Given the description of an element on the screen output the (x, y) to click on. 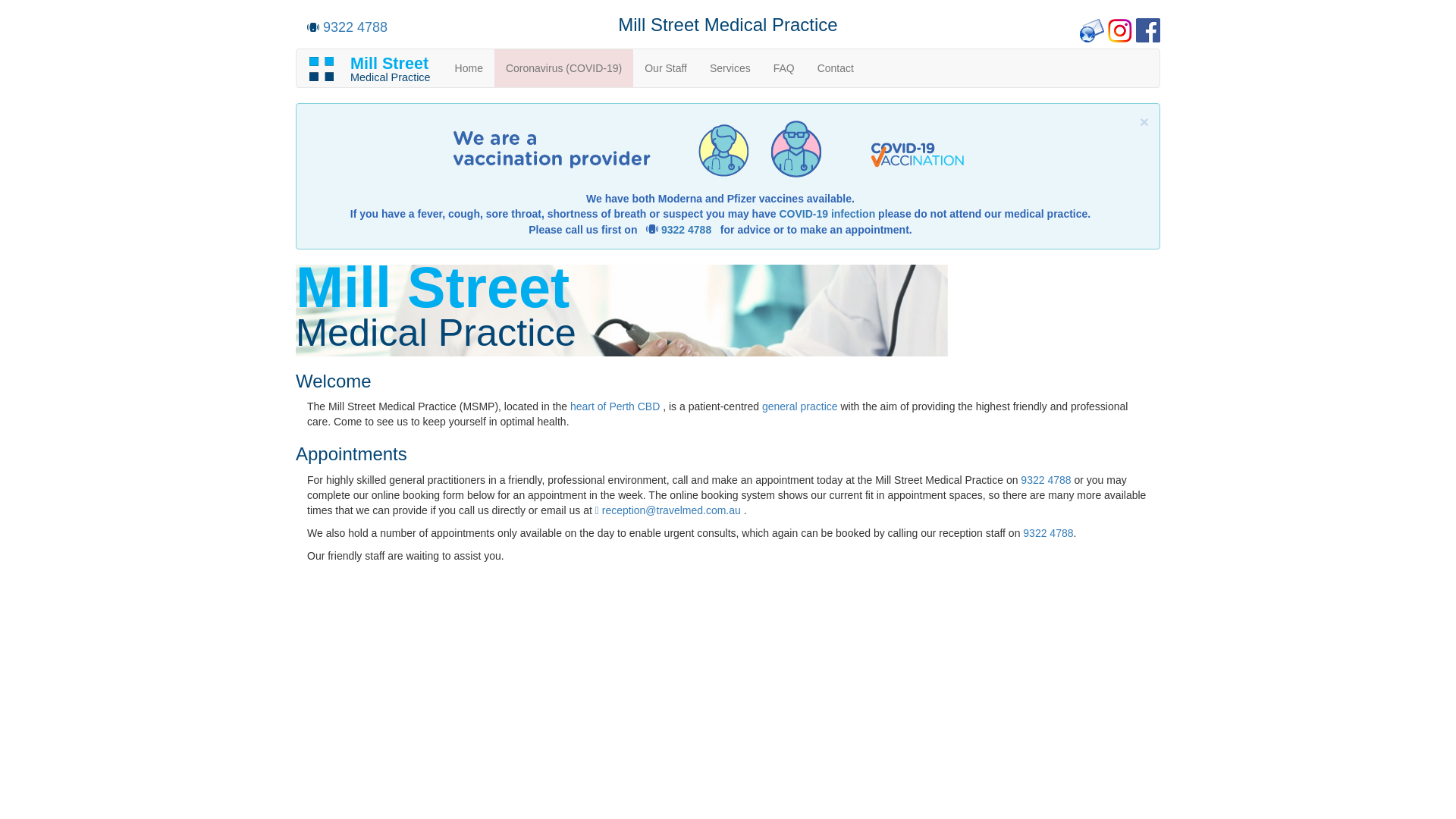
reception@travelmed.com.au Element type: text (667, 510)
Coronavirus (COVID-19) Element type: text (563, 68)
general practice Element type: text (801, 406)
9322 4788 Element type: text (355, 26)
Contact Element type: text (835, 68)
9322 4788 Element type: text (1047, 533)
Services Element type: text (730, 68)
FAQ Element type: text (784, 68)
9322 4788 Element type: text (686, 229)
heart of Perth CBD Element type: text (616, 406)
9322 4788 Element type: text (1045, 479)
COVID-19 infection Element type: text (826, 213)
Our Staff Element type: text (665, 68)
Home Element type: text (468, 68)
